Given the description of an element on the screen output the (x, y) to click on. 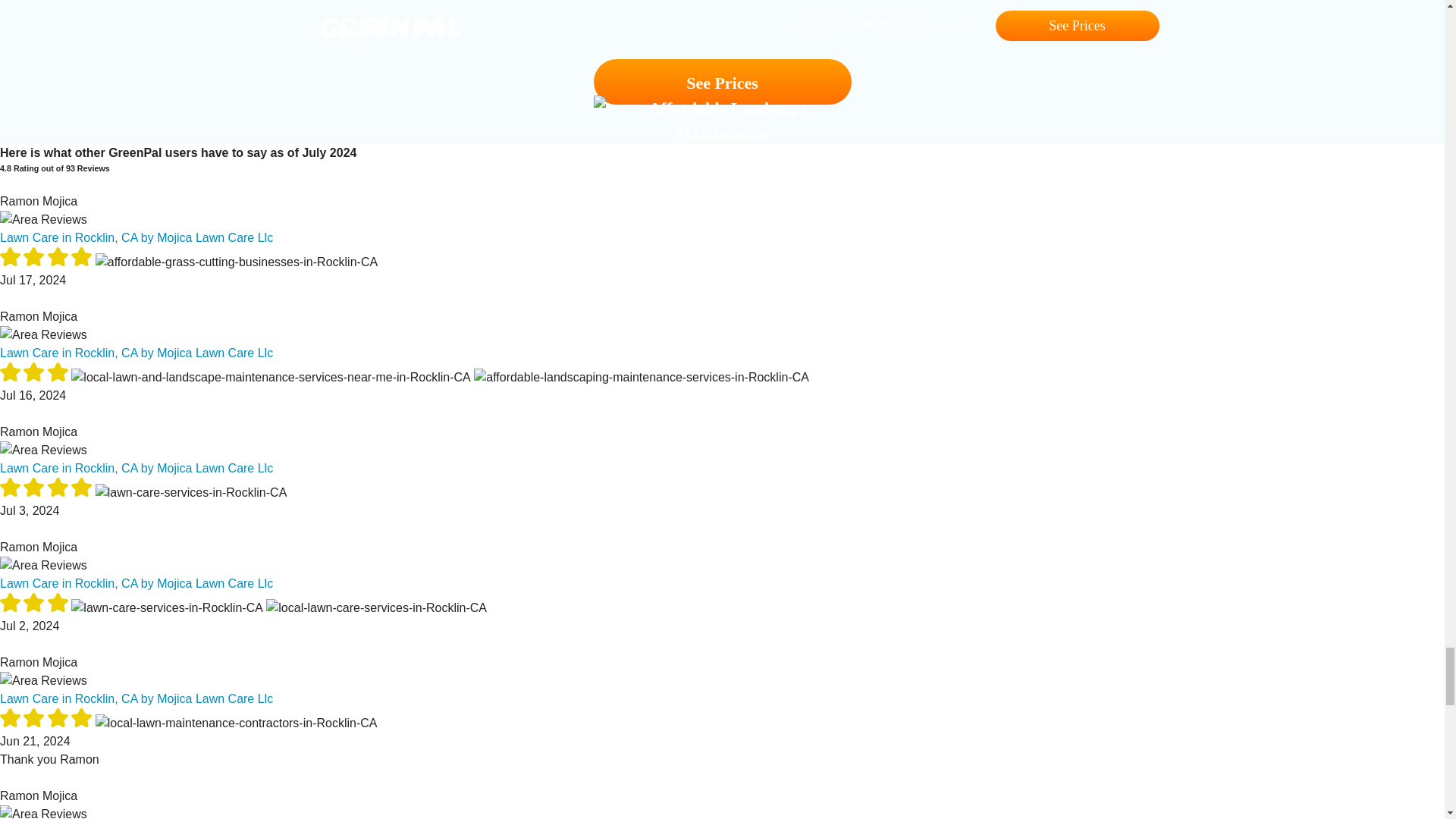
See Prices (721, 81)
